Given the description of an element on the screen output the (x, y) to click on. 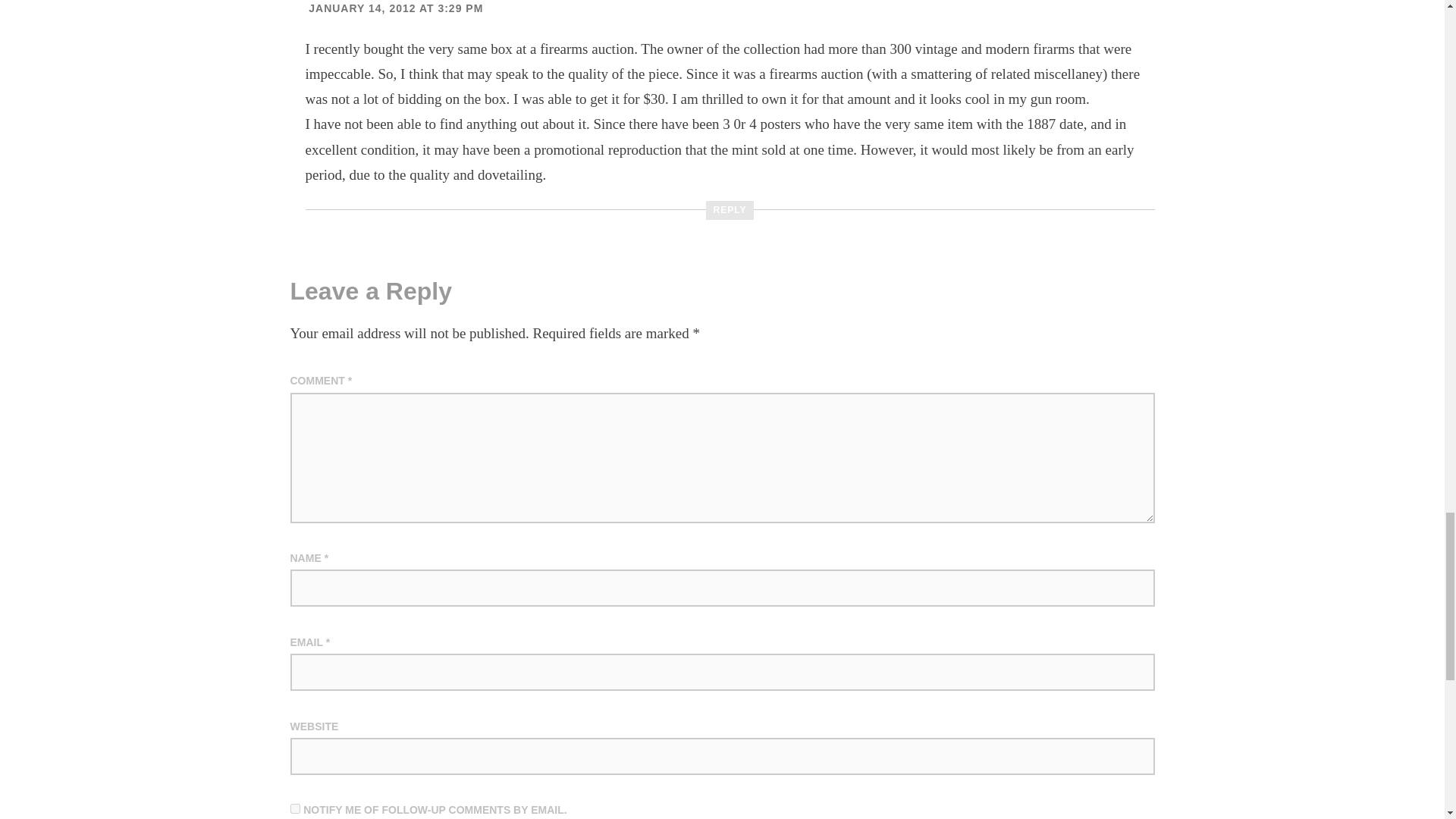
subscribe (294, 808)
REPLY (730, 210)
JANUARY 14, 2012 AT 3:29 PM (395, 8)
